Given the description of an element on the screen output the (x, y) to click on. 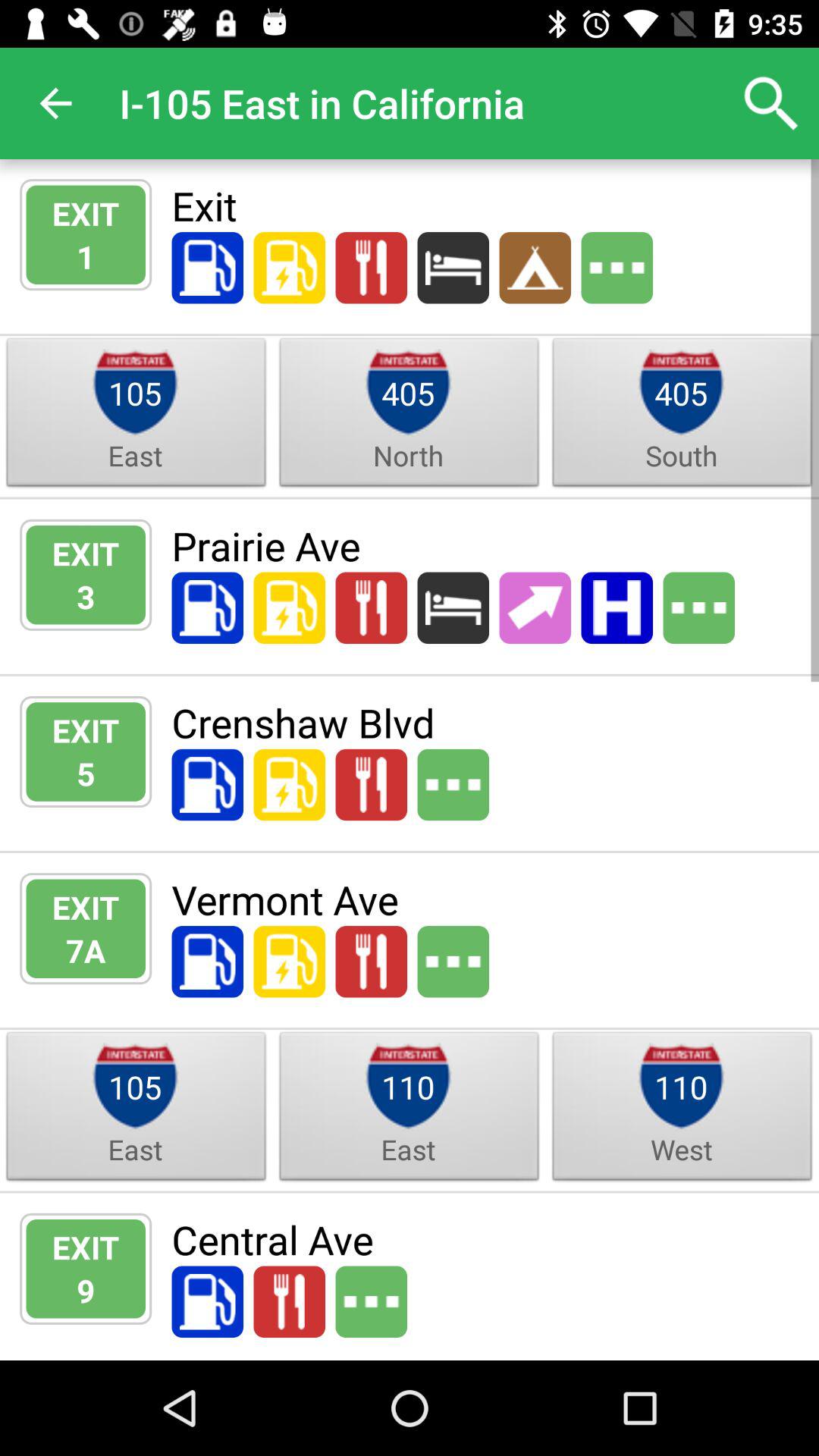
scroll until 3 item (85, 596)
